Given the description of an element on the screen output the (x, y) to click on. 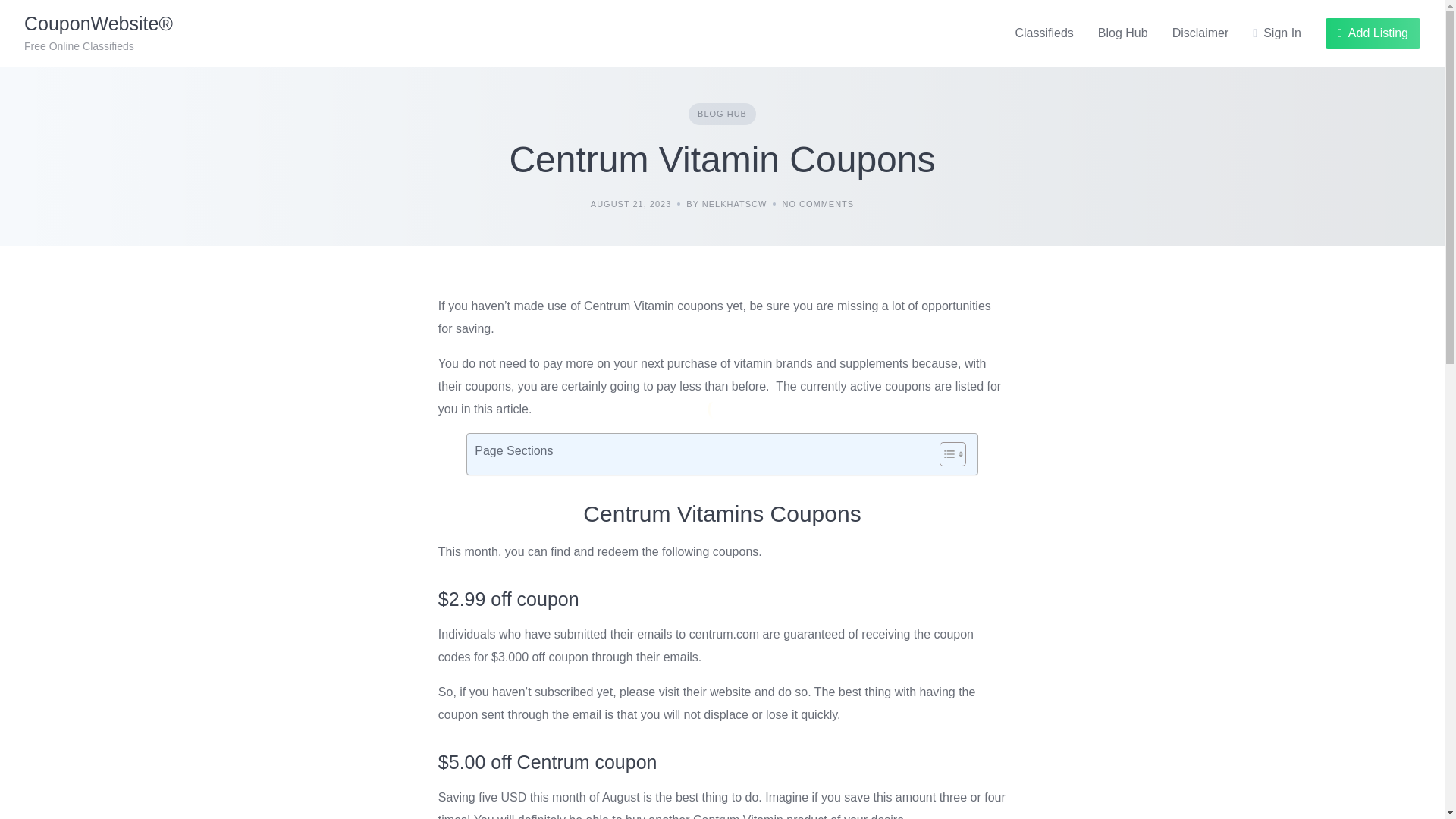
Add Listing (1372, 33)
Blog Hub (1122, 33)
Classifieds (1043, 33)
Sign In (1276, 33)
BLOG HUB (721, 114)
NO COMMENTS (817, 204)
Disclaimer (1200, 33)
